Given the description of an element on the screen output the (x, y) to click on. 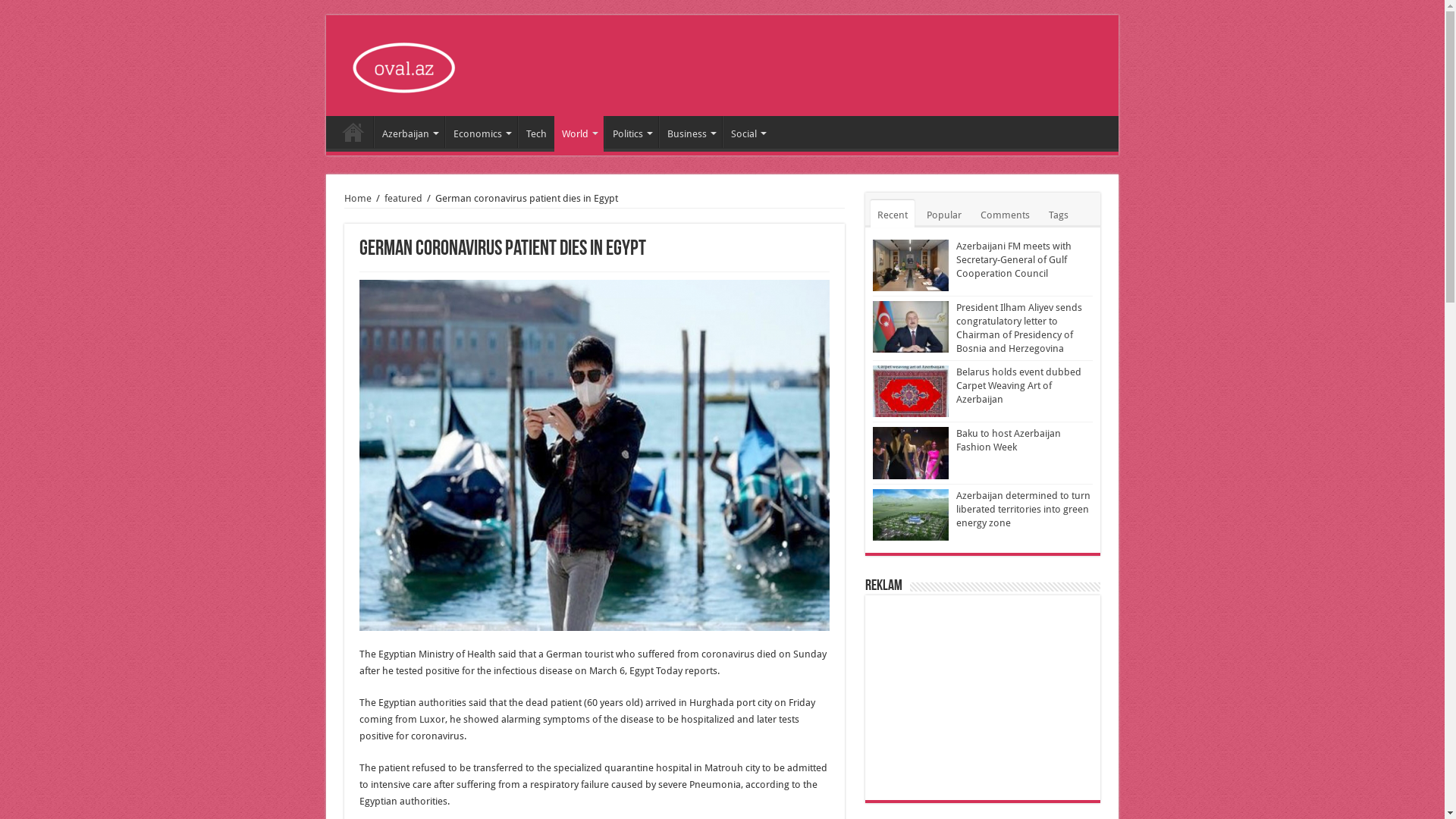
Business Element type: text (689, 131)
Belarus holds event dubbed Carpet Weaving Art of Azerbaijan Element type: text (1018, 385)
Tags Element type: text (1058, 213)
Baku to host Azerbaijan Fashion Week Element type: text (1008, 439)
featured Element type: text (403, 197)
Oval Element type: hover (406, 63)
Social Element type: text (746, 131)
Home Element type: text (357, 197)
Recent Element type: text (892, 213)
Economics Element type: text (481, 131)
Azerbaijan Element type: text (408, 131)
World Element type: text (578, 131)
Home Element type: text (353, 131)
Comments Element type: text (1004, 213)
Tech Element type: text (535, 131)
Politics Element type: text (631, 131)
Popular Element type: text (943, 213)
